Given the description of an element on the screen output the (x, y) to click on. 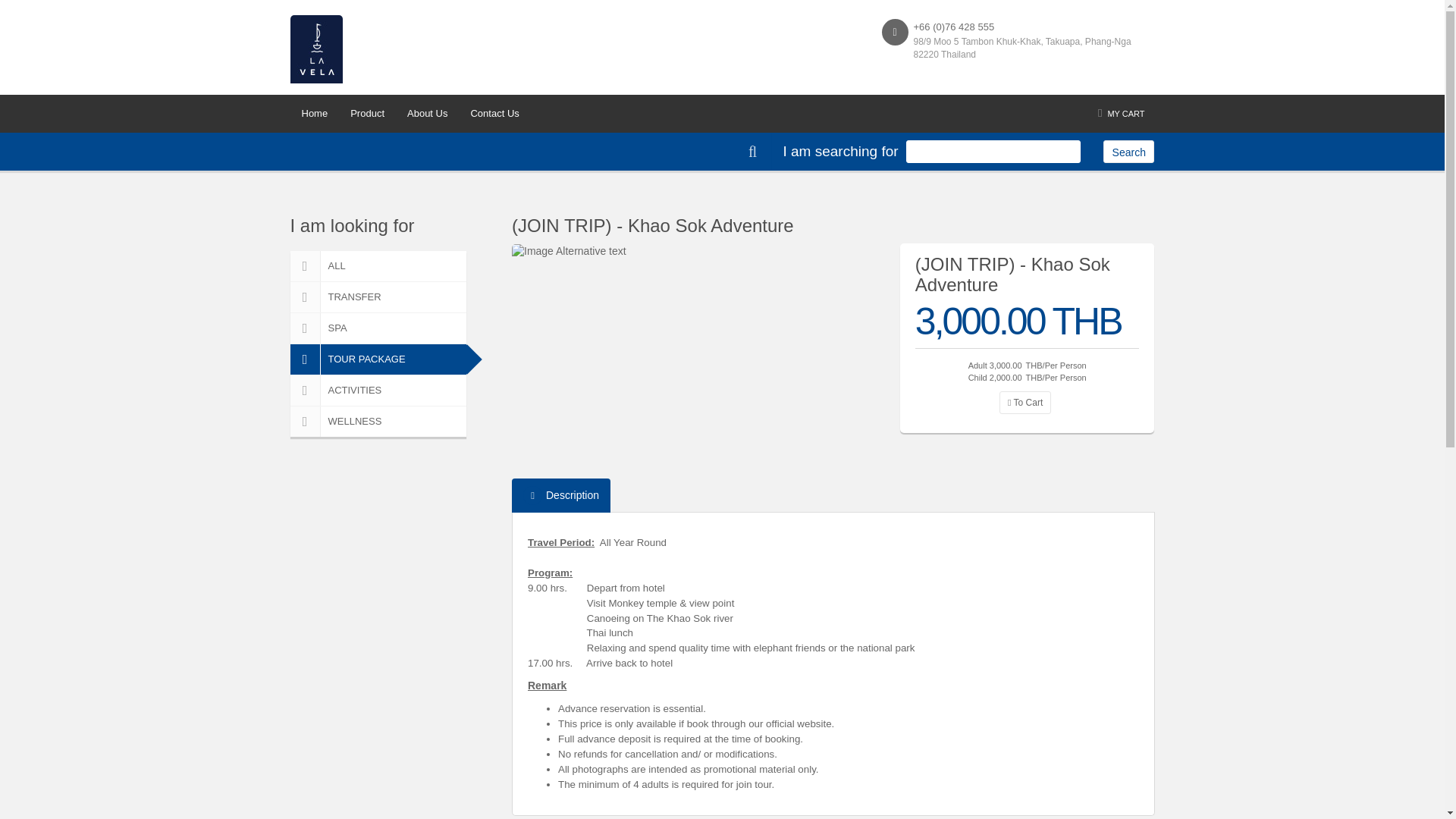
MY CART (1120, 113)
Gamer Chick (569, 251)
ACTIVITIES (377, 390)
To Cart (1024, 402)
About Us (427, 113)
TRANSFER (377, 296)
Contact Us (493, 113)
WELLNESS (377, 421)
ALL (377, 265)
Product (367, 113)
TOUR PACKAGE (377, 358)
Search (1128, 151)
SPA (377, 327)
Home (314, 113)
Description (561, 495)
